Given the description of an element on the screen output the (x, y) to click on. 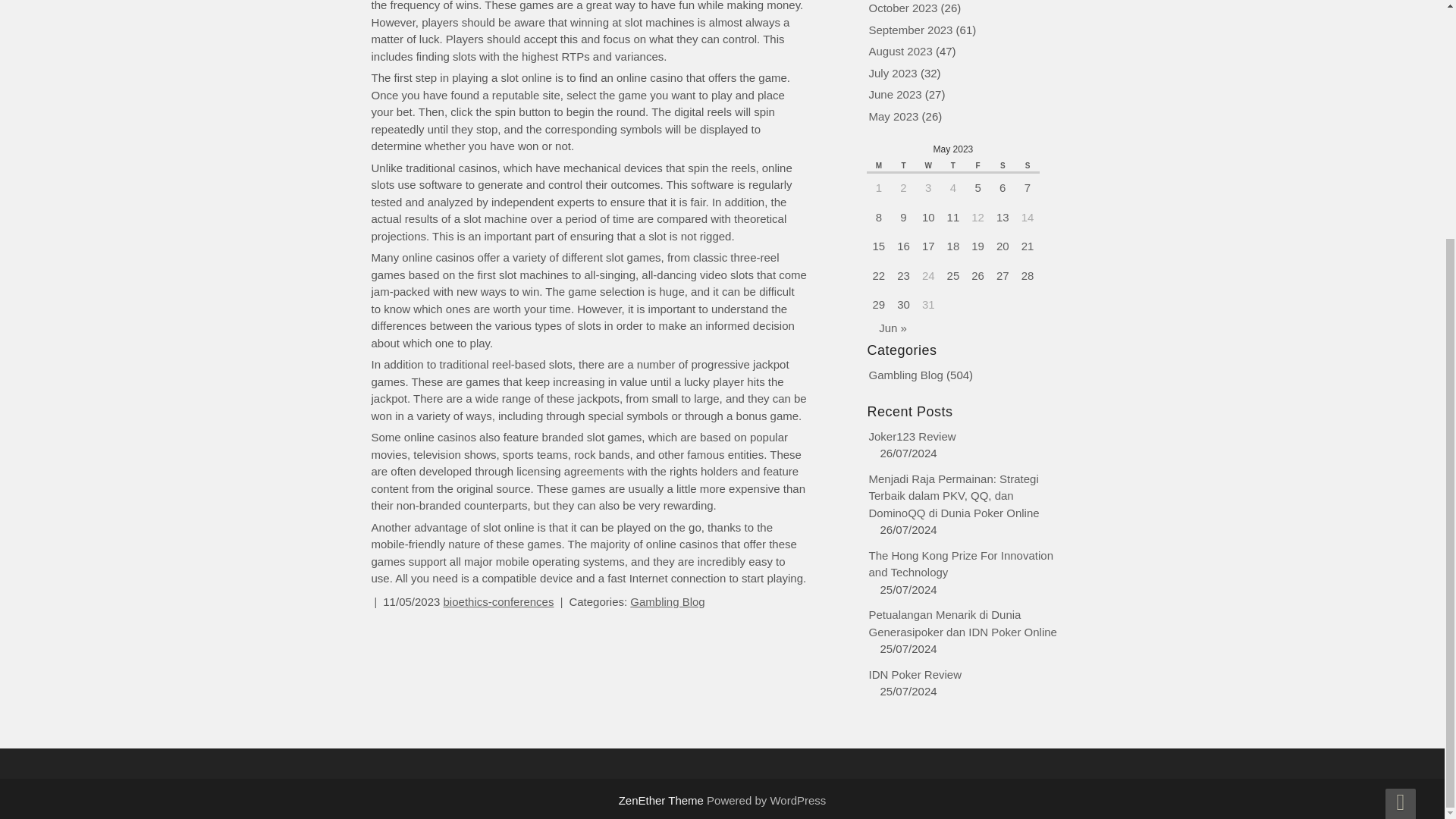
October 2023 (903, 7)
17 (927, 245)
6 (1002, 187)
July 2023 (893, 72)
16 (903, 245)
22 (878, 275)
19 (977, 245)
Thursday (953, 165)
Sunday (1027, 165)
Monday (878, 165)
23 (903, 275)
June 2023 (895, 93)
10 (927, 215)
bioethics-conferences (499, 601)
Gambling Blog (667, 601)
